Given the description of an element on the screen output the (x, y) to click on. 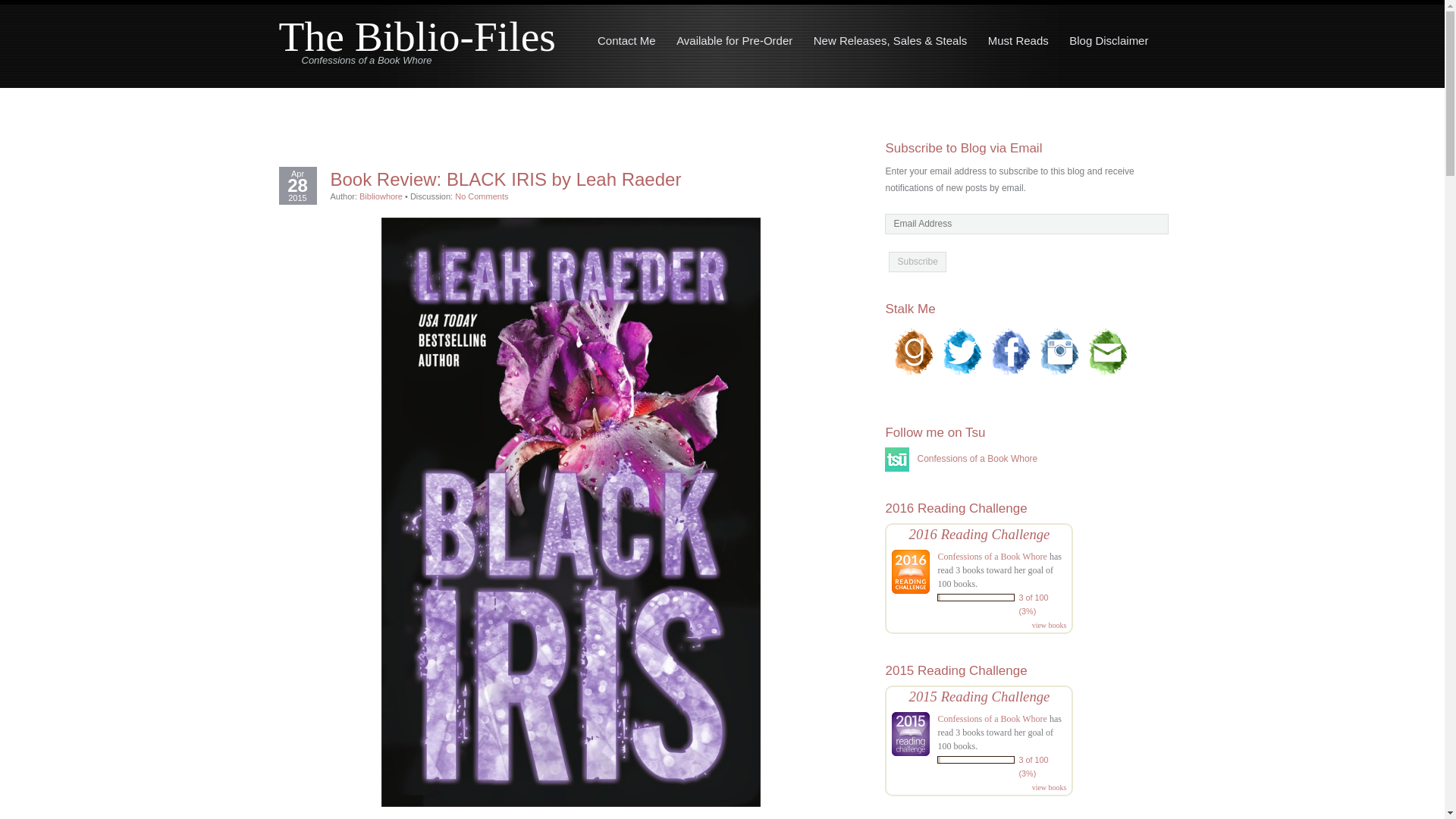
Book Review: BLACK IRIS by Leah Raeder (571, 179)
Must Reads (1018, 40)
The Biblio-Files (417, 36)
Subscribe (916, 261)
View all posts by Bibliowhore (381, 195)
Permanent Link to Book Review: BLACK IRIS by Leah Raeder (571, 179)
No Comments (481, 195)
Available for Pre-Order (734, 40)
The Biblio-Files (417, 36)
Blog Disclaimer (1108, 40)
Bibliowhore (381, 195)
Contact Me (626, 40)
Confessions of a Book Whore (960, 458)
